Given the description of an element on the screen output the (x, y) to click on. 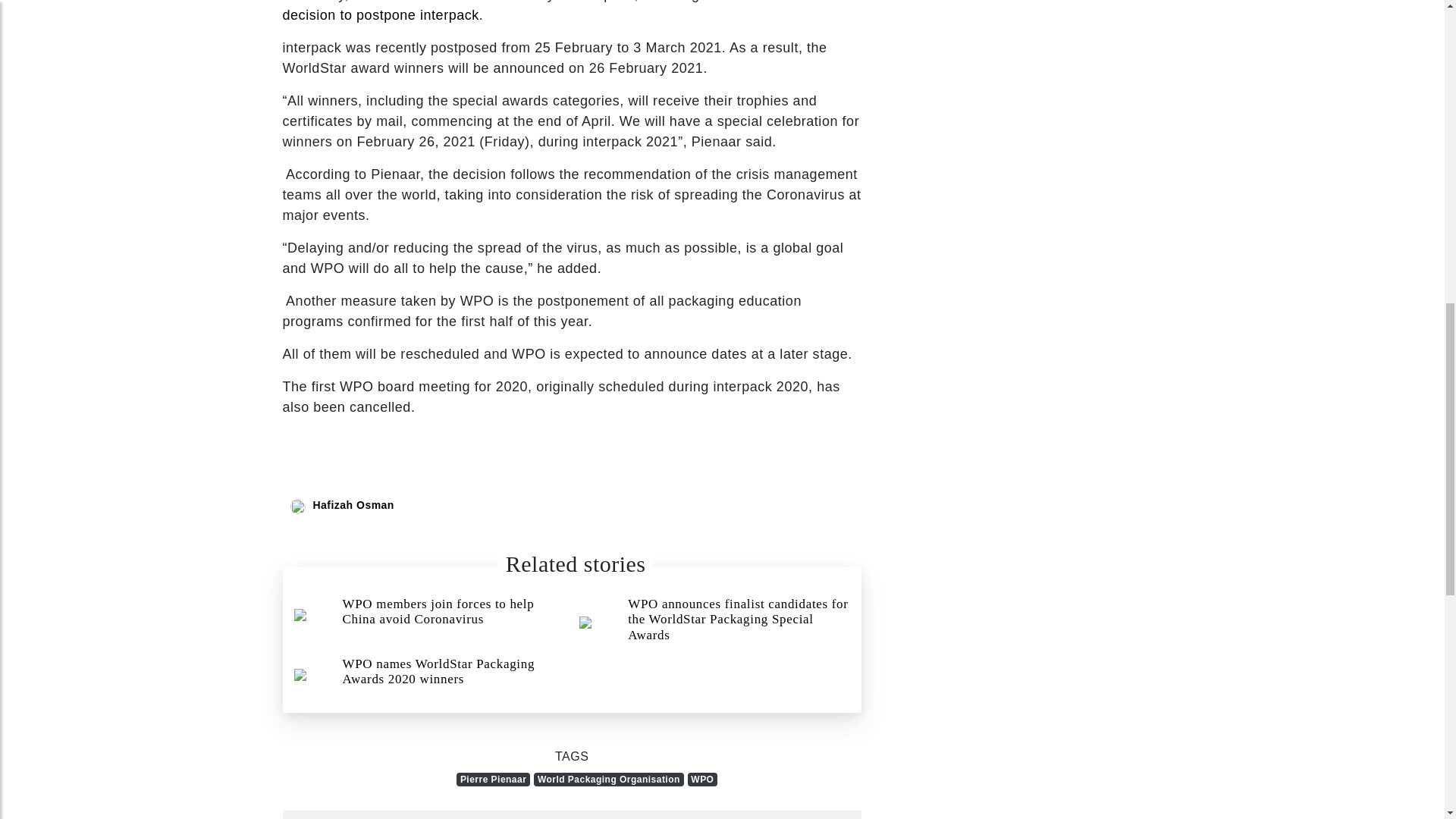
Pierre Pienaar (493, 779)
World Packaging Organisation (609, 779)
Hafizah Osman (353, 504)
WPO (702, 779)
WPO names WorldStar Packaging Awards 2020 winners (429, 674)
WPO members join forces to help China avoid Coronavirus (429, 615)
